Given the description of an element on the screen output the (x, y) to click on. 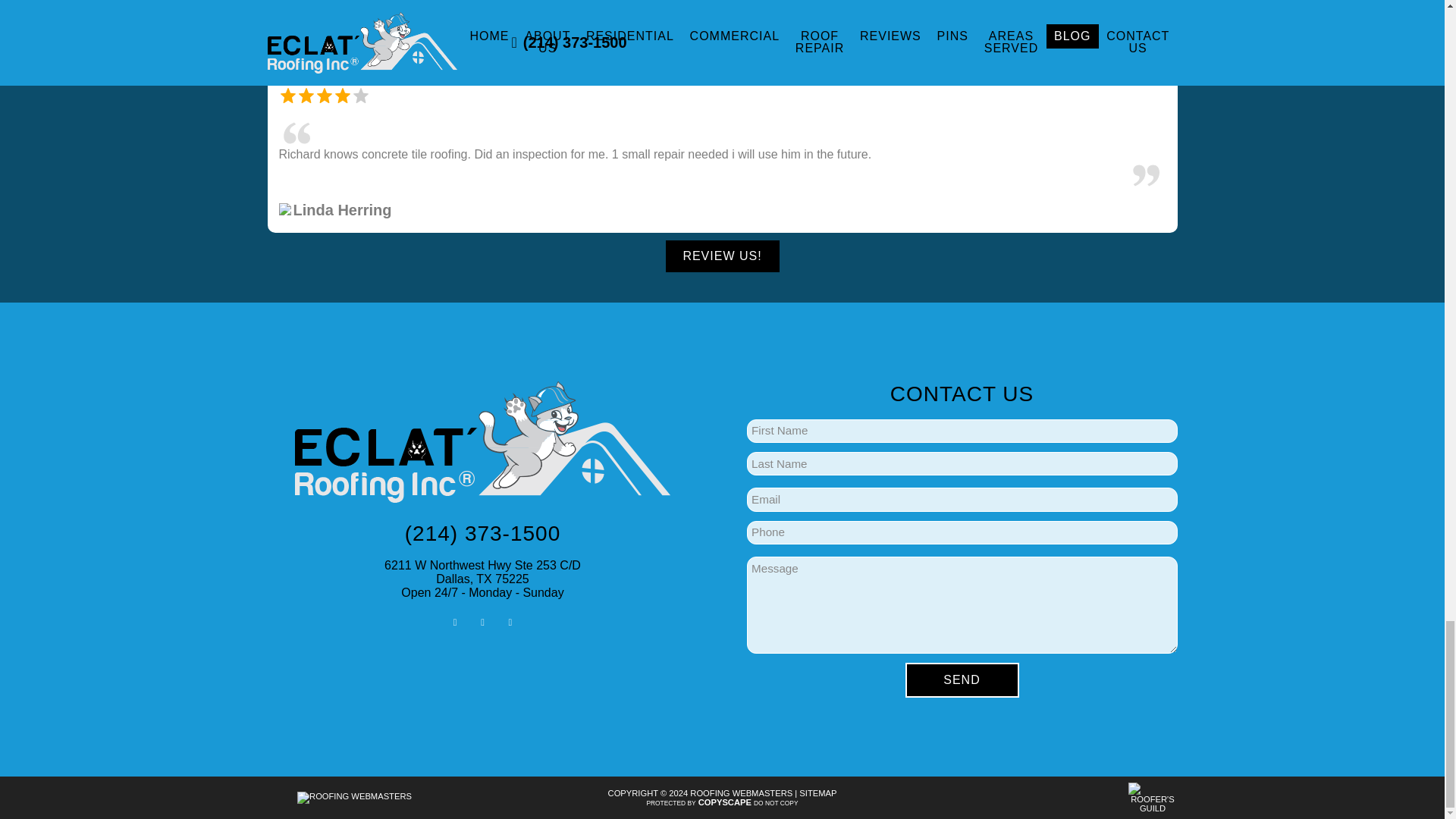
Send (962, 679)
